Given the description of an element on the screen output the (x, y) to click on. 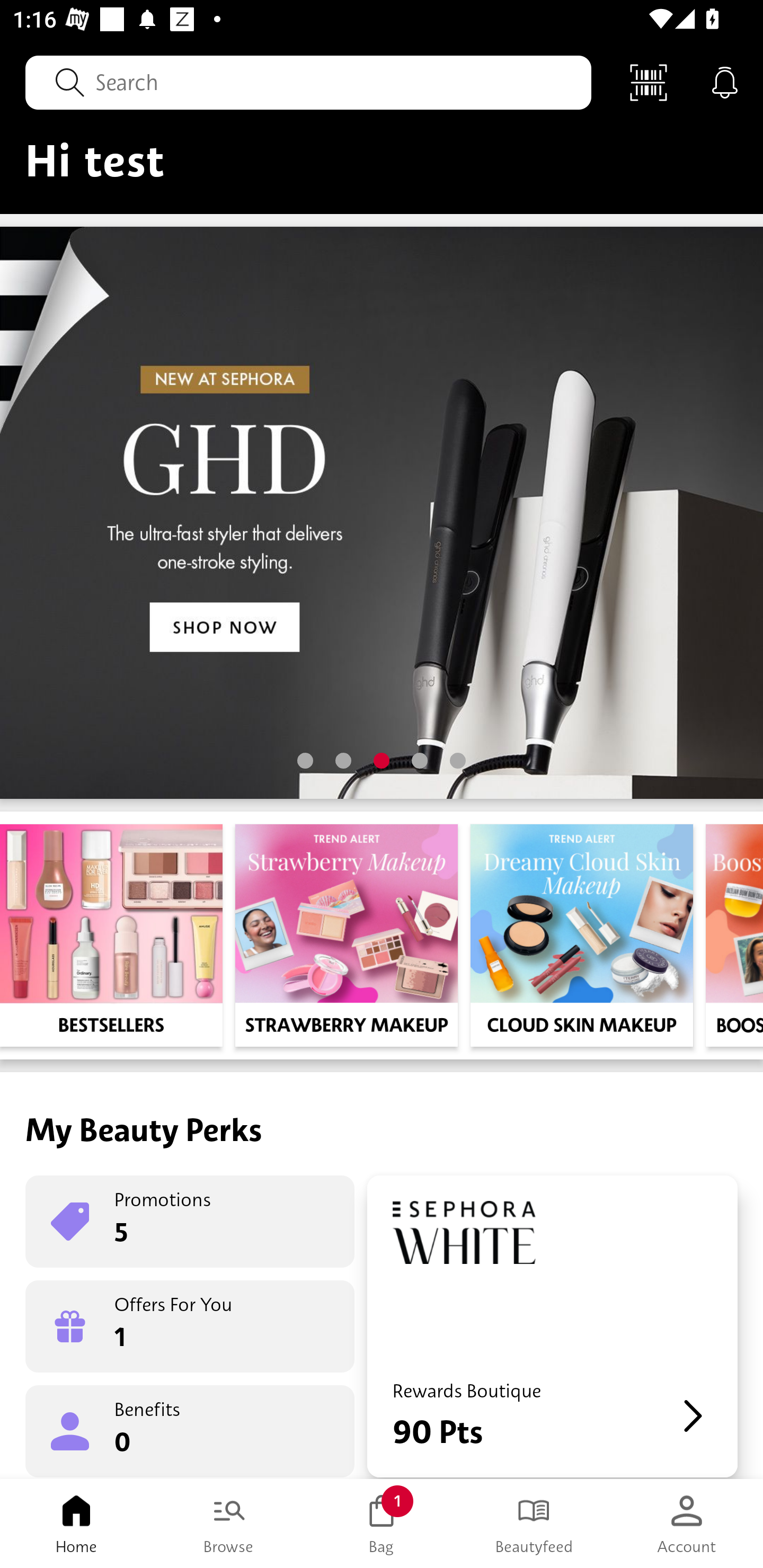
Scan Code (648, 81)
Notifications (724, 81)
Search (308, 81)
Promotions 5 (189, 1221)
Rewards Boutique 90 Pts (552, 1326)
Offers For You 1 (189, 1326)
Benefits 0 (189, 1430)
Browse (228, 1523)
Bag 1 Bag (381, 1523)
Beautyfeed (533, 1523)
Account (686, 1523)
